Given the description of an element on the screen output the (x, y) to click on. 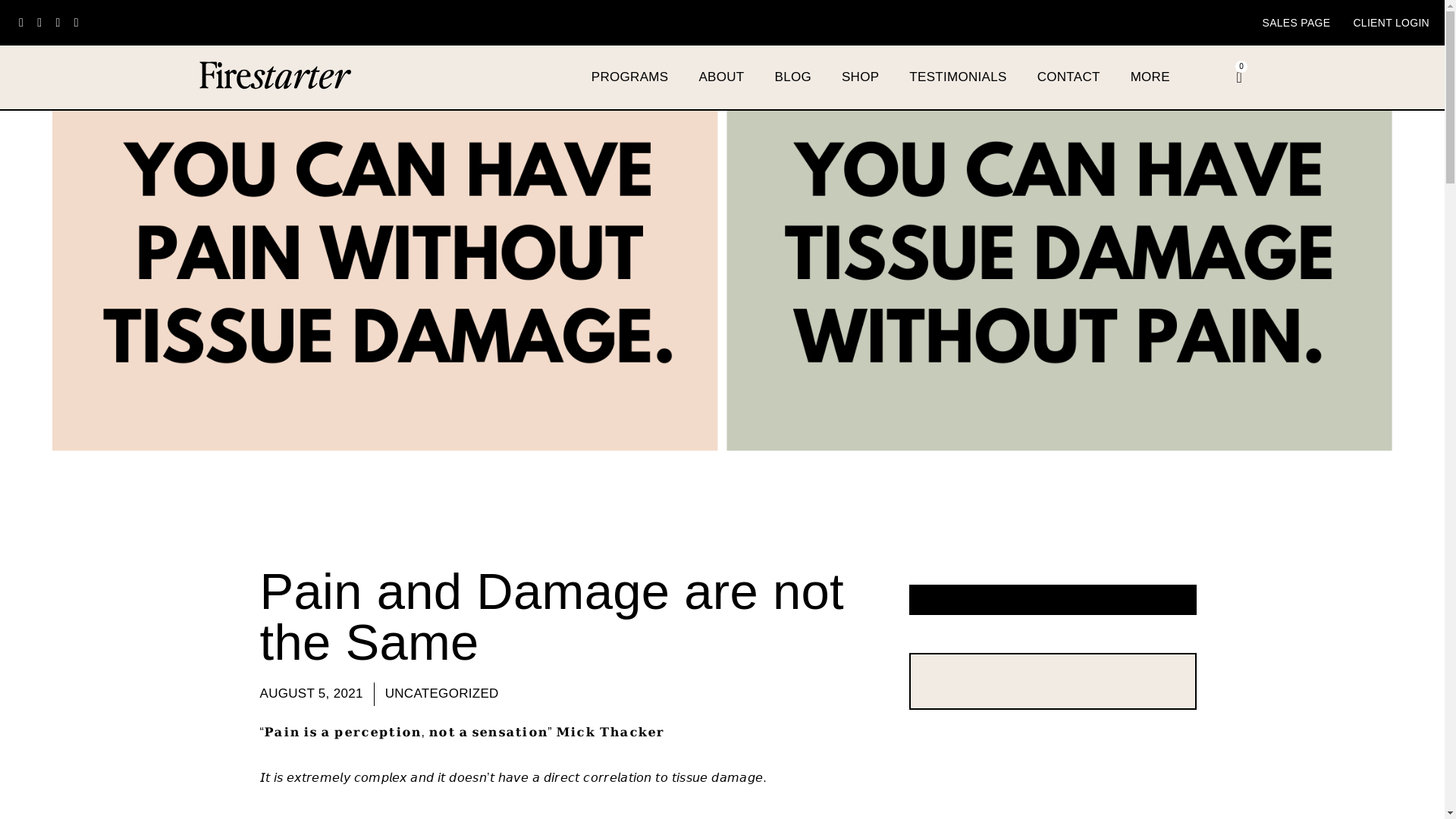
MORE (1150, 77)
AUGUST 5, 2021 (310, 693)
CONTACT (1068, 77)
UNCATEGORIZED (442, 693)
PROGRAMS (630, 77)
CLIENT LOGIN (1390, 22)
SHOP (860, 77)
ABOUT (720, 77)
SALES PAGE (1296, 22)
TESTIMONIALS (957, 77)
